Given the description of an element on the screen output the (x, y) to click on. 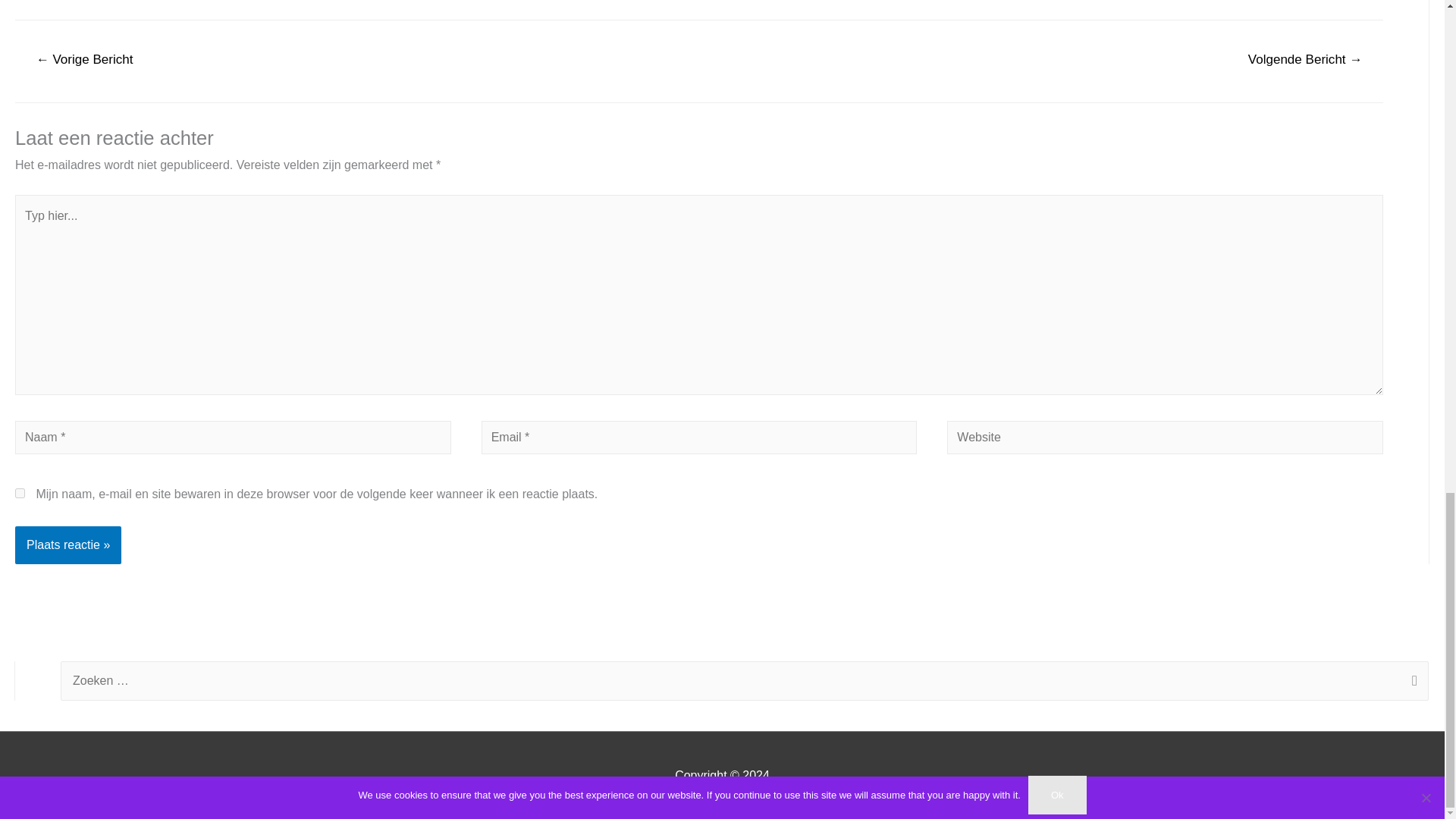
yes (19, 492)
